Given the description of an element on the screen output the (x, y) to click on. 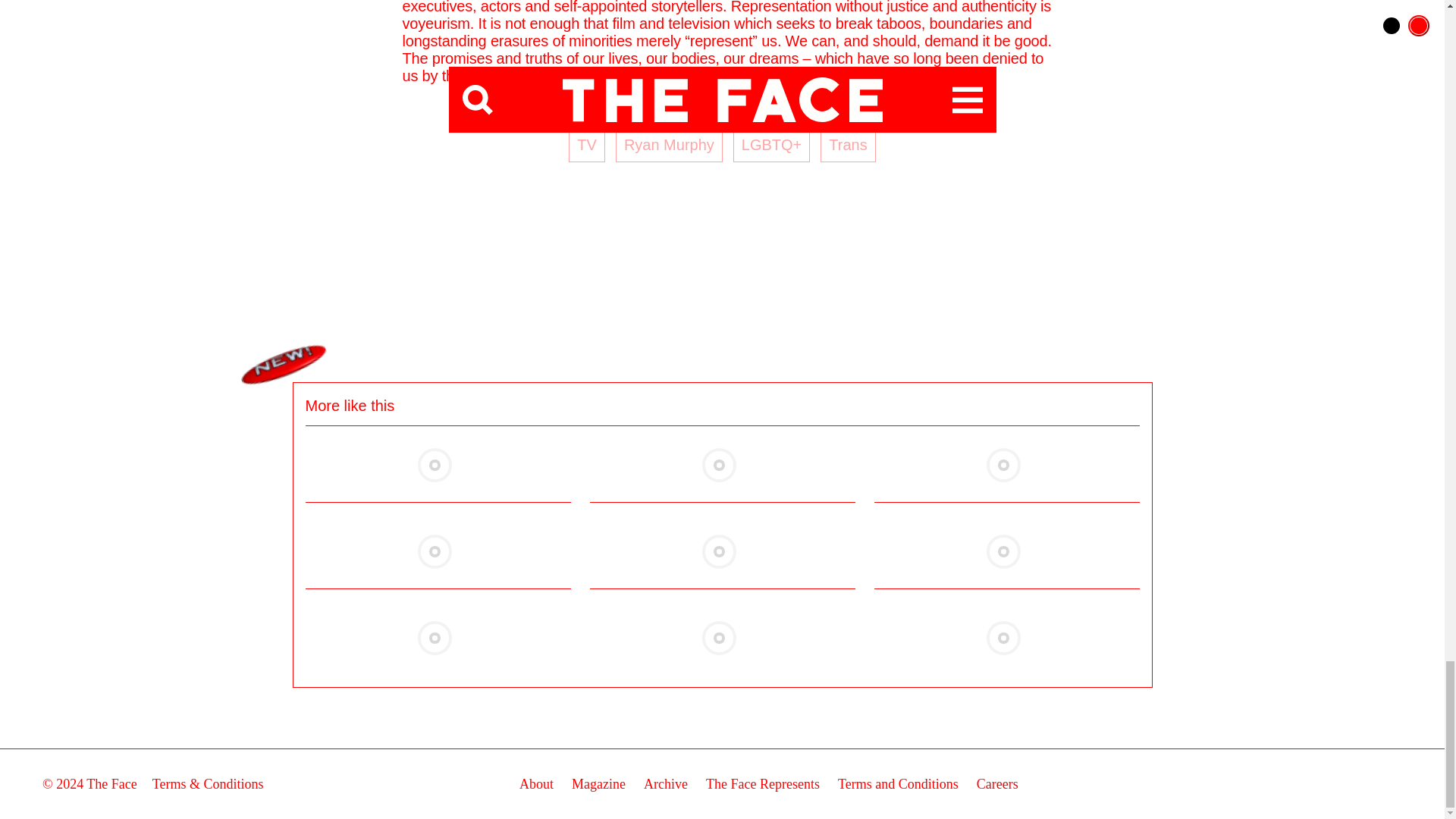
Magazine (599, 783)
About (536, 783)
Archive (665, 783)
TV (587, 144)
The Face Represents (762, 783)
Terms and Conditions (898, 783)
Careers (996, 783)
Ryan Murphy (668, 144)
Trans (848, 144)
